Given the description of an element on the screen output the (x, y) to click on. 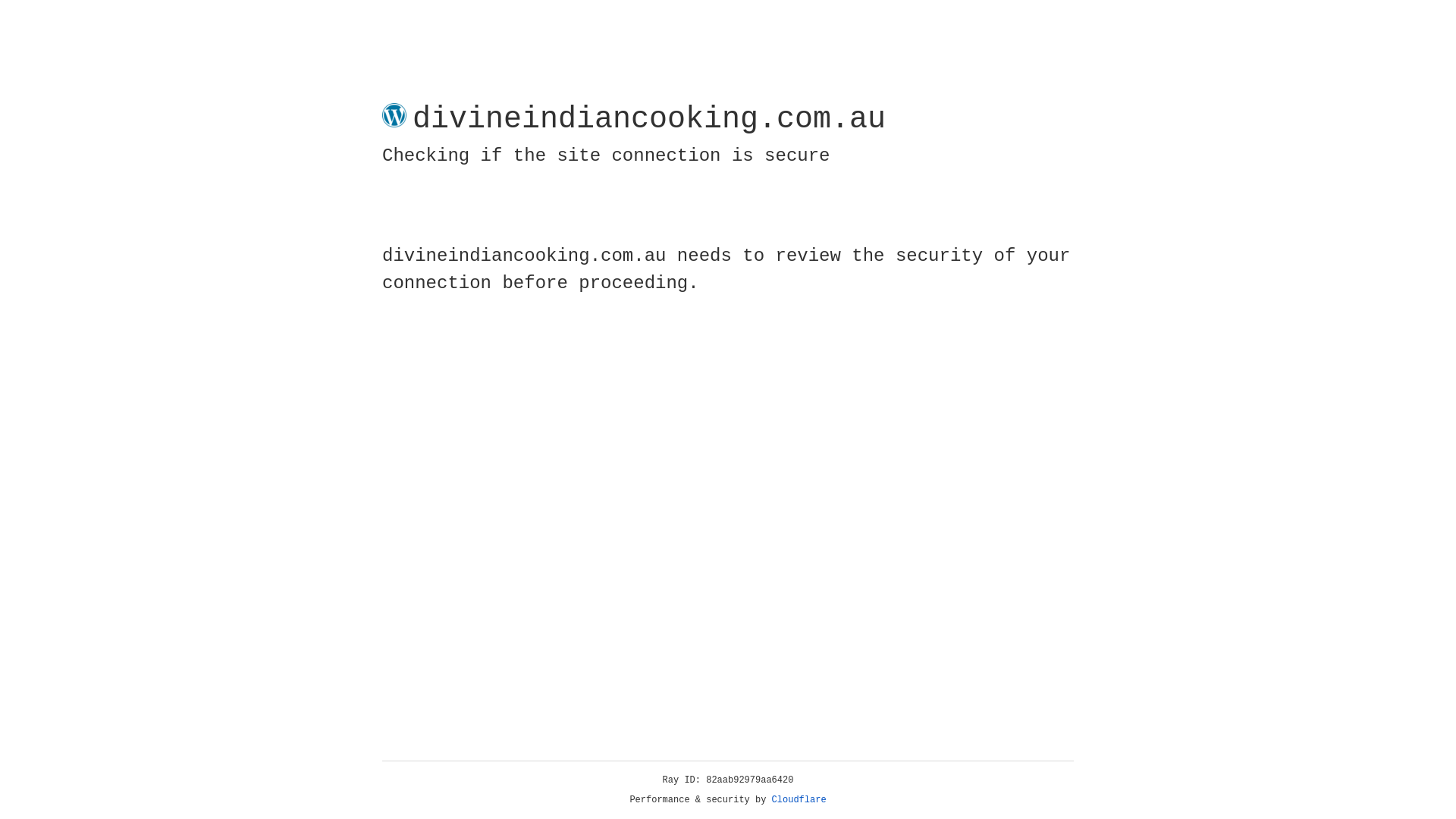
Cloudflare Element type: text (798, 799)
